Given the description of an element on the screen output the (x, y) to click on. 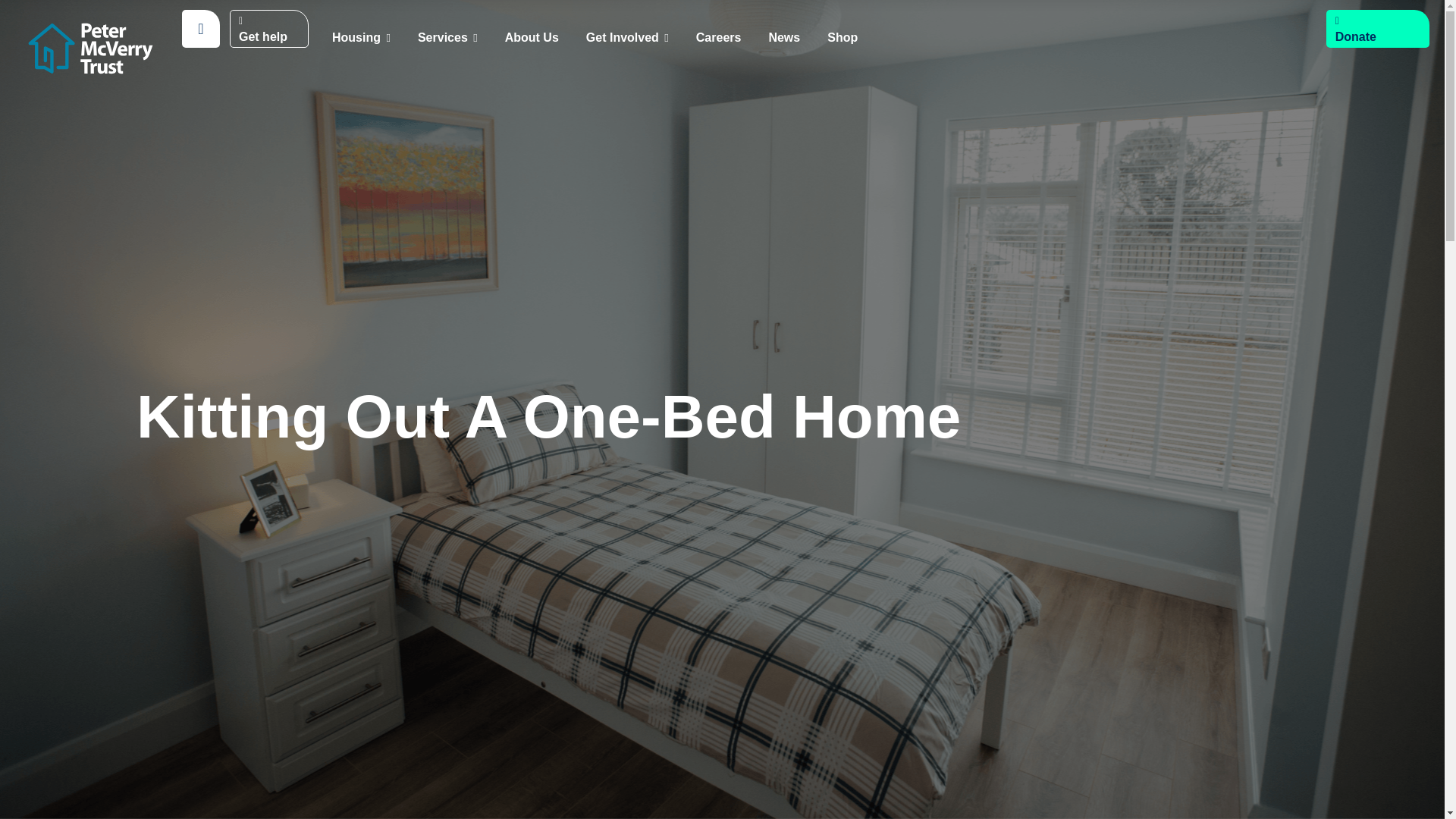
Careers (718, 38)
Get help (268, 27)
Donate Now (1370, 66)
Shop (842, 38)
Direct Debit Sign Up (1369, 101)
About Us (532, 38)
News (783, 38)
